Given the description of an element on the screen output the (x, y) to click on. 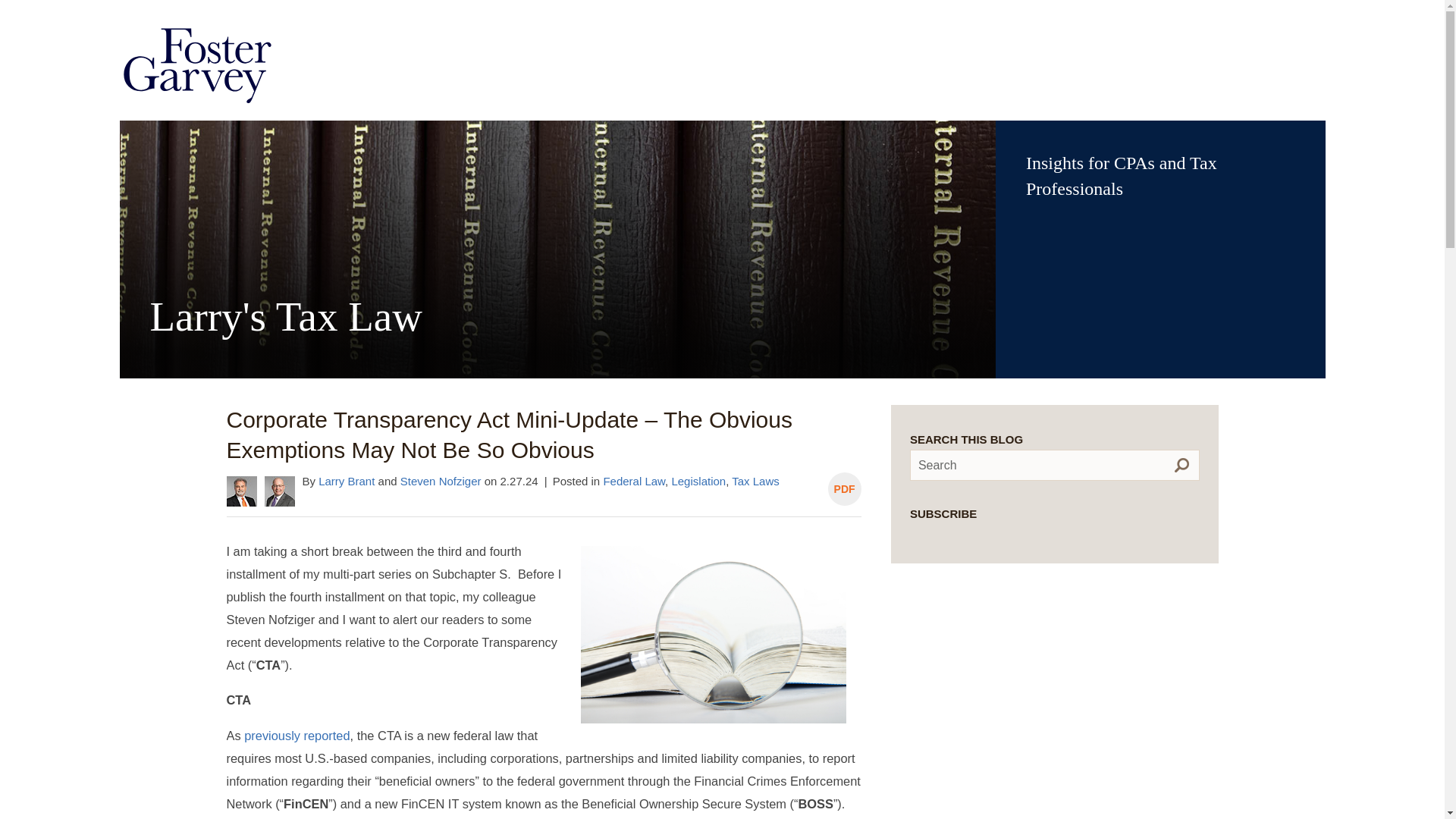
Steven Nofziger (440, 481)
Federal Law (633, 481)
Legislation (698, 481)
previously reported (296, 735)
Tax Laws (755, 481)
Larry Brant (346, 481)
PDF (844, 489)
